Given the description of an element on the screen output the (x, y) to click on. 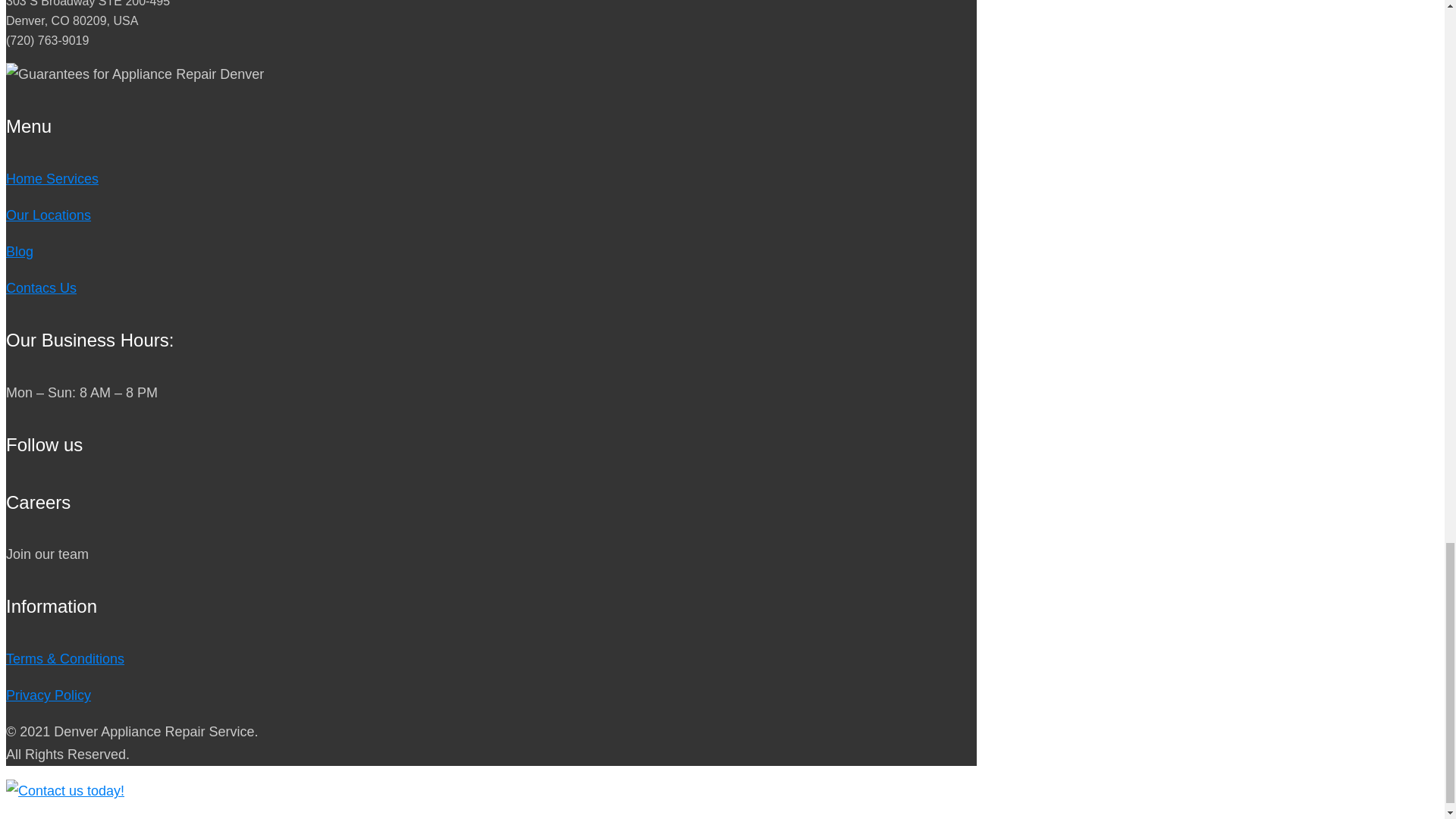
Contacs Us (41, 287)
Our Locations (47, 215)
Blog (19, 251)
Contact us (64, 790)
Home Services (52, 178)
